Given the description of an element on the screen output the (x, y) to click on. 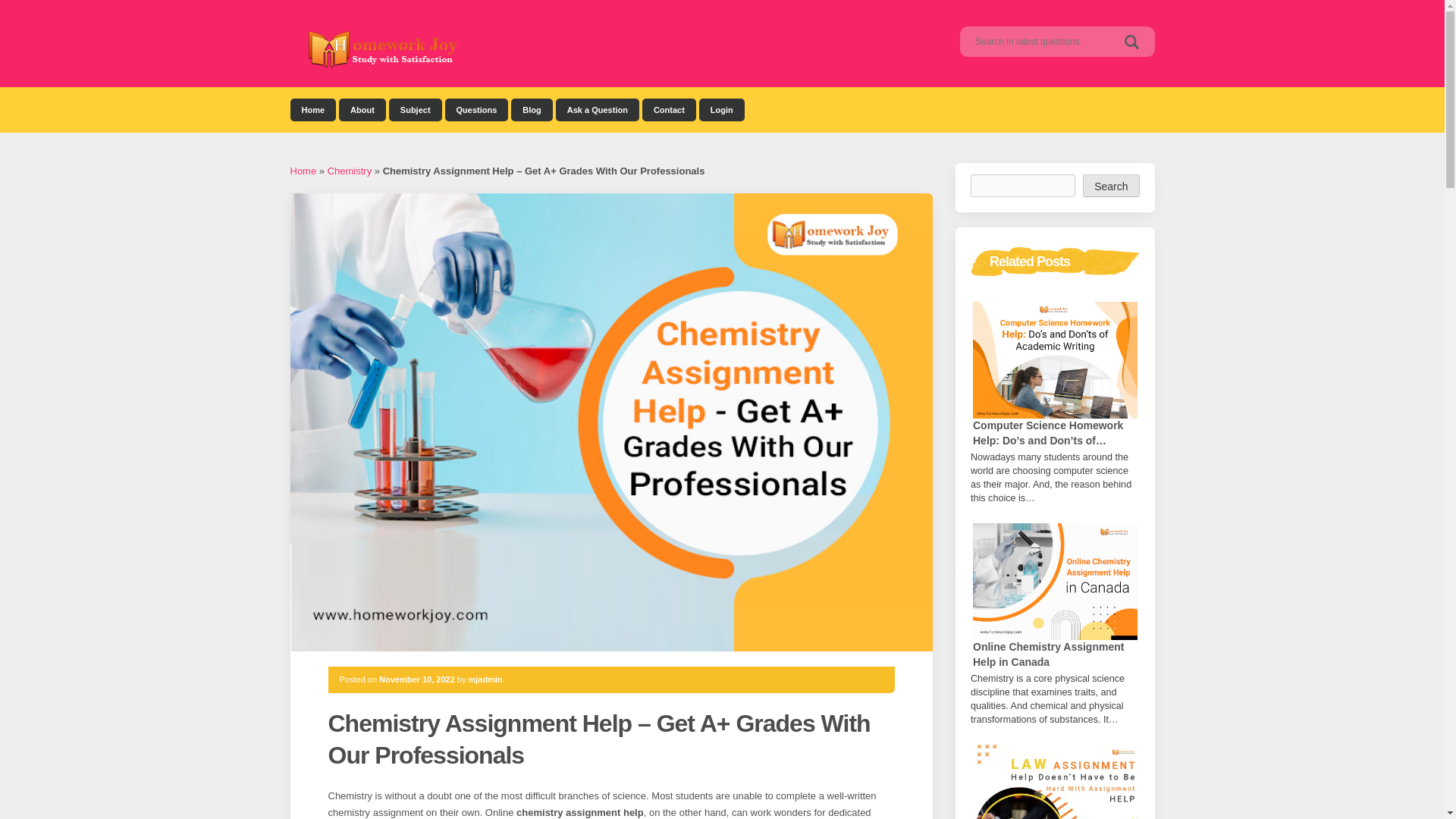
Questions (476, 109)
Home (302, 170)
Chemistry (349, 170)
Login (721, 109)
About (362, 109)
Home (312, 109)
mjadmin (485, 678)
Ask a Question (597, 109)
Home (312, 109)
Questions (476, 109)
